Given the description of an element on the screen output the (x, y) to click on. 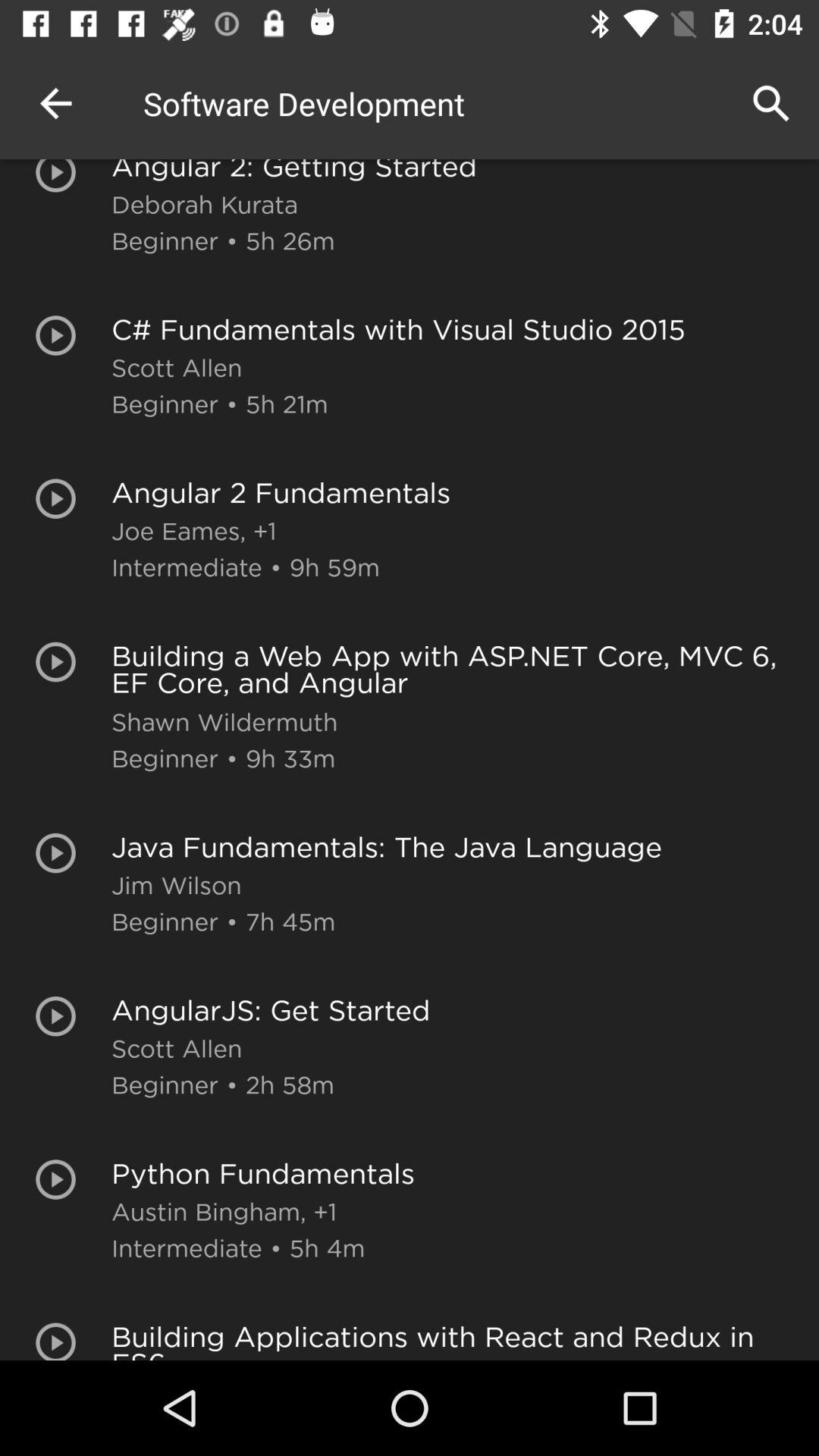
open the icon to the left of angular 2 getting item (55, 103)
